Given the description of an element on the screen output the (x, y) to click on. 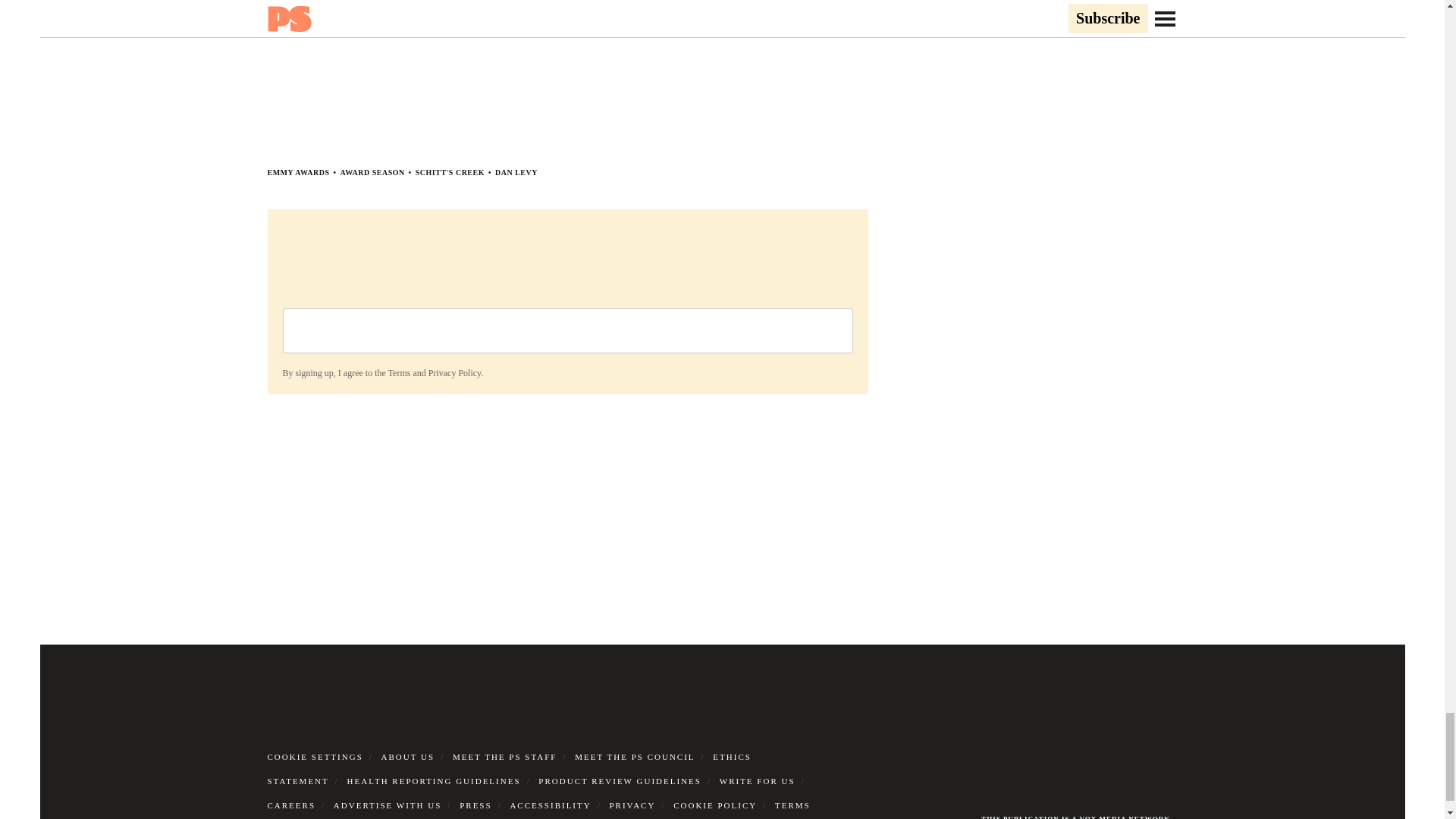
EMMY AWARDS (297, 172)
CAREERS (290, 805)
HEALTH REPORTING GUIDELINES (434, 780)
WRITE FOR US (756, 780)
AWARD SEASON (372, 172)
ETHICS STATEMENT (508, 769)
MEET THE PS COUNCIL (634, 756)
ADVERTISE WITH US (387, 805)
Terms (399, 372)
DAN LEVY (516, 172)
Privacy Policy. (455, 372)
PRODUCT REVIEW GUIDELINES (619, 780)
SCHITT'S CREEK (449, 172)
ABOUT US (408, 756)
MEET THE PS STAFF (504, 756)
